Given the description of an element on the screen output the (x, y) to click on. 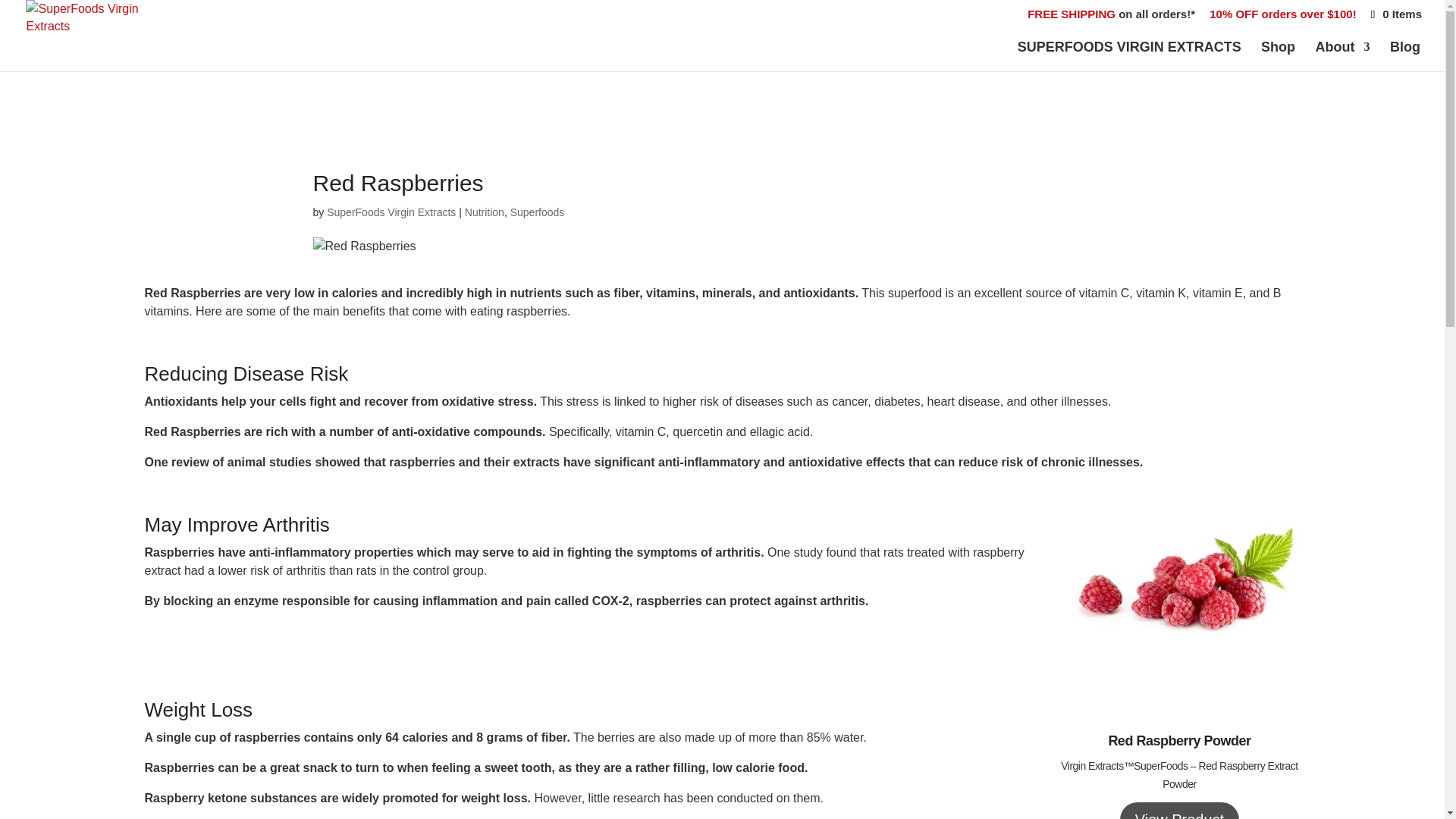
About (1343, 56)
Posts by SuperFoods Virgin Extracts (390, 212)
Red Raspberry Powder (1179, 740)
0 Items (1395, 13)
Superfoods (537, 212)
View Product (1179, 809)
SUPERFOODS VIRGIN EXTRACTS (1129, 56)
SuperFoods Virgin Extracts (390, 212)
Discount will show in your cart at checkout (1282, 17)
